Given the description of an element on the screen output the (x, y) to click on. 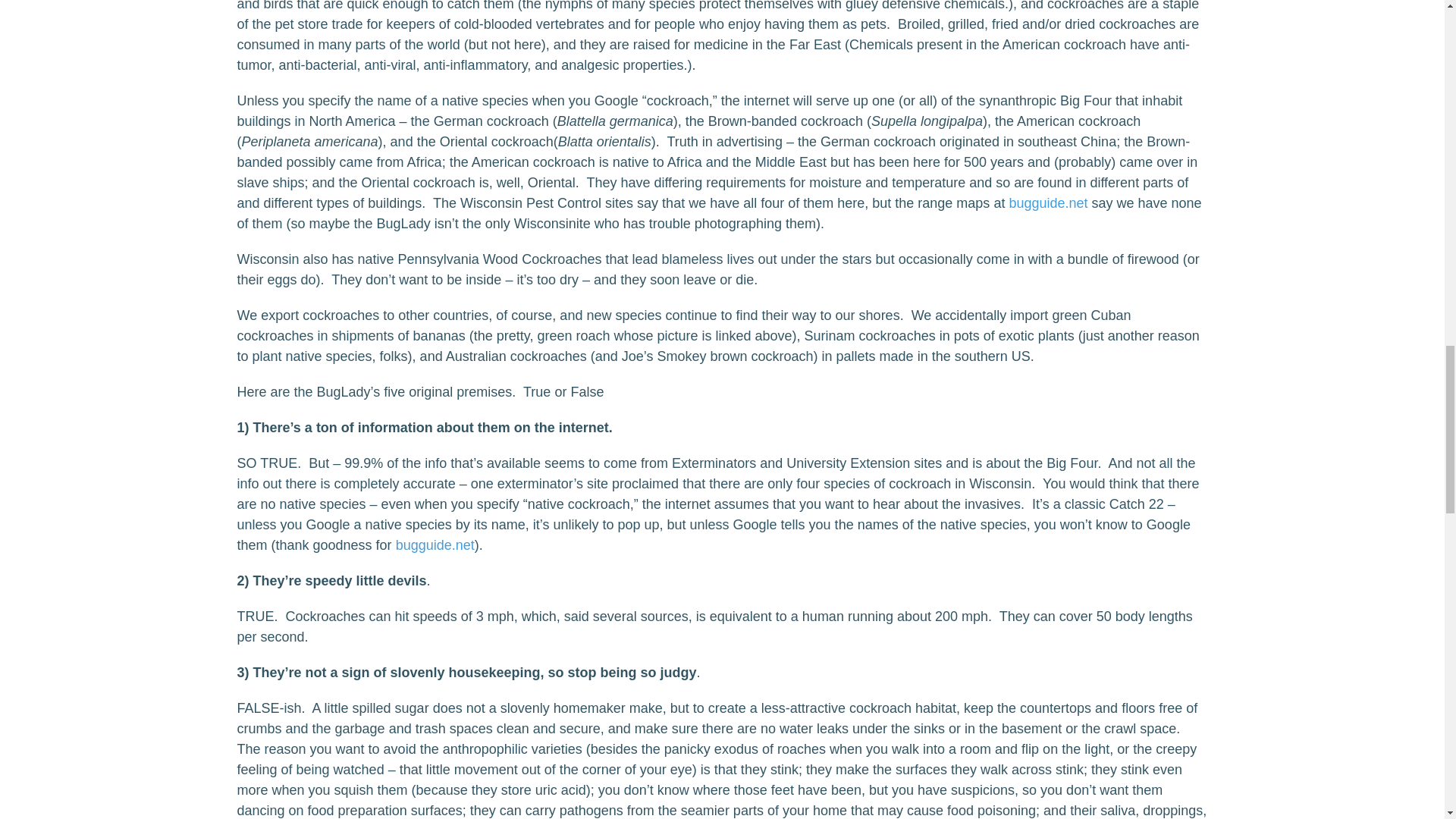
bugguide.net (435, 544)
bugguide.net (1048, 202)
